Given the description of an element on the screen output the (x, y) to click on. 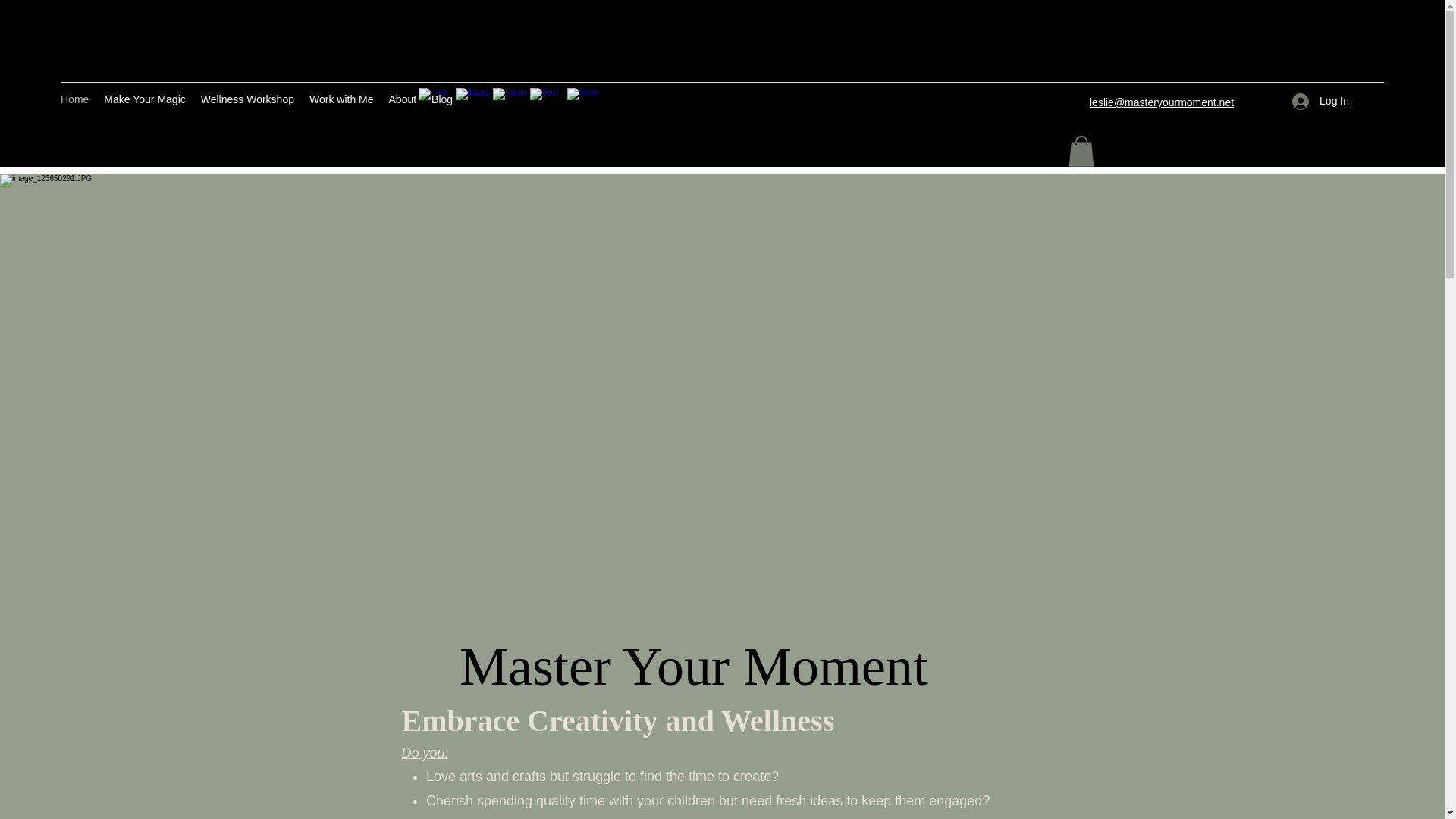
Make Your Magic (144, 101)
Blog (441, 101)
About (403, 101)
Work with Me (341, 101)
Home (74, 101)
Log In (1320, 100)
Wellness Workshop (247, 101)
